Given the description of an element on the screen output the (x, y) to click on. 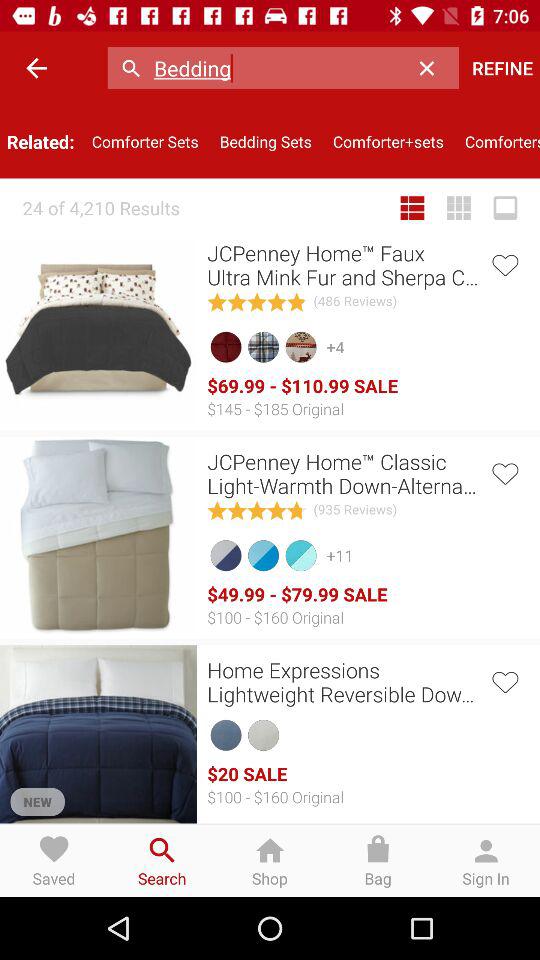
add to favorites (504, 680)
